Given the description of an element on the screen output the (x, y) to click on. 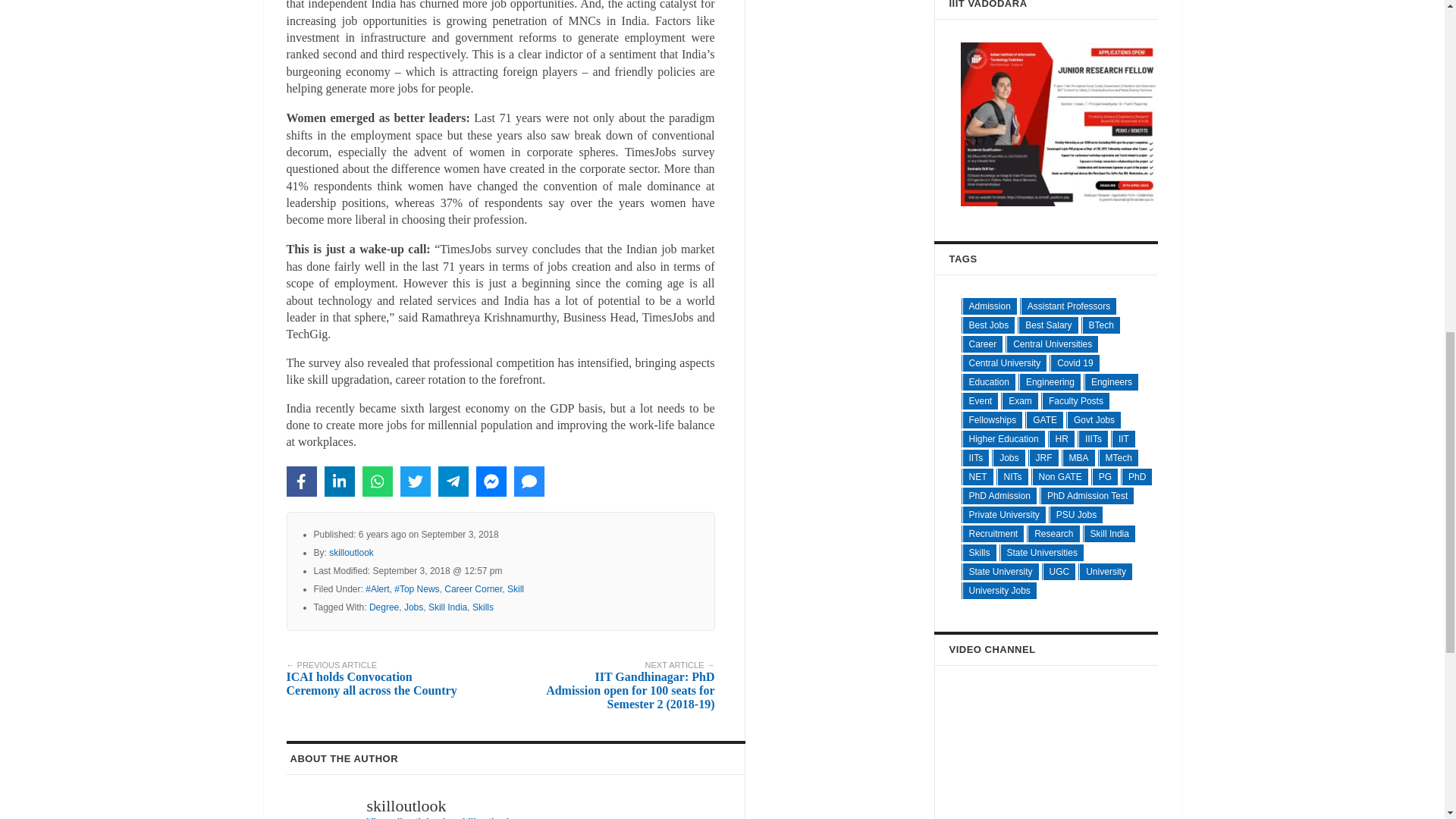
Career Corner (473, 588)
Skill (515, 588)
Posts by skilloutlook (351, 552)
Degree (383, 606)
Posts by skilloutlook (406, 805)
skilloutlook (351, 552)
Jobs (413, 606)
skilloutlook.com Video Channel (1065, 745)
